Given the description of an element on the screen output the (x, y) to click on. 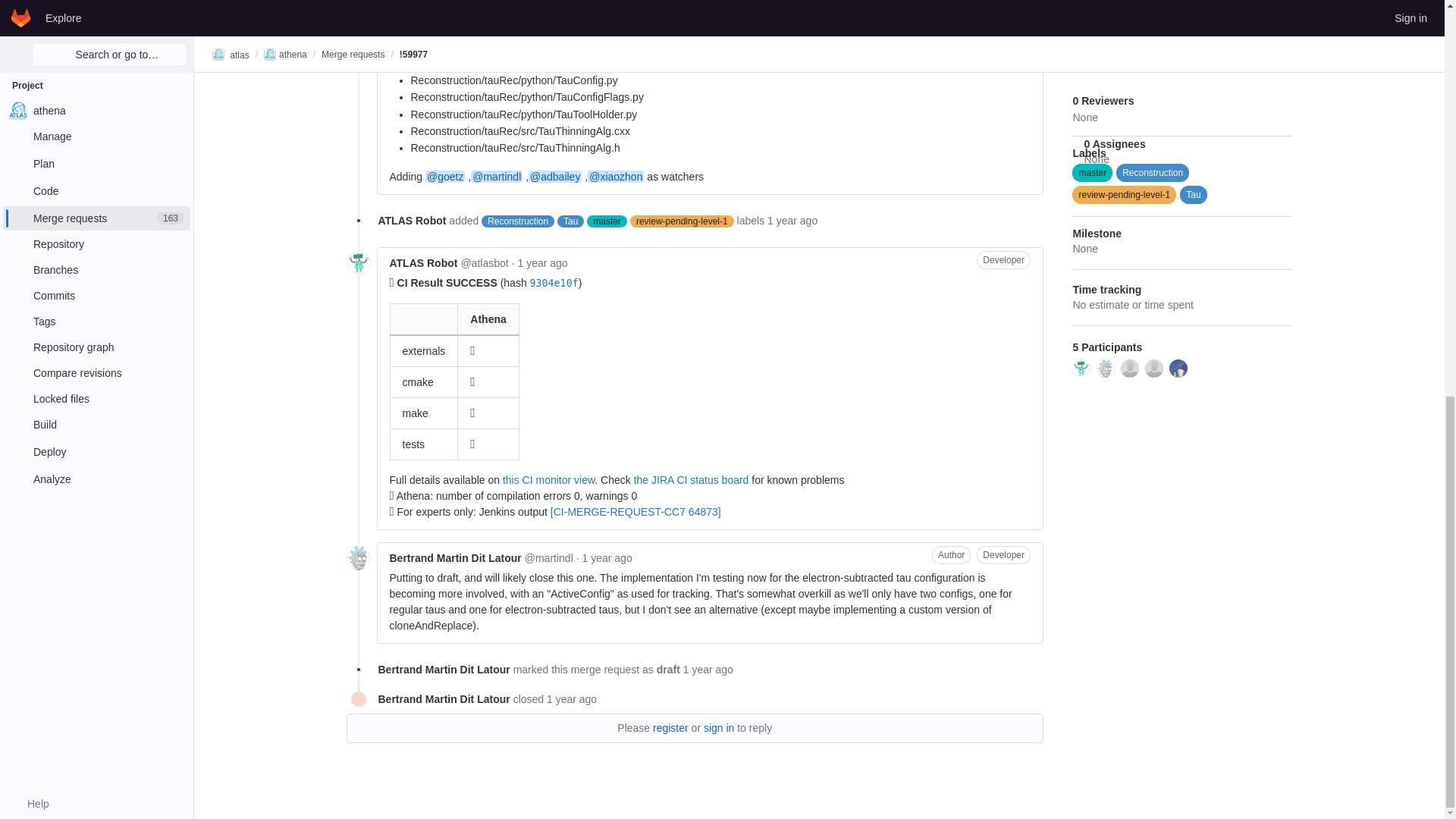
Help (30, 34)
